Given the description of an element on the screen output the (x, y) to click on. 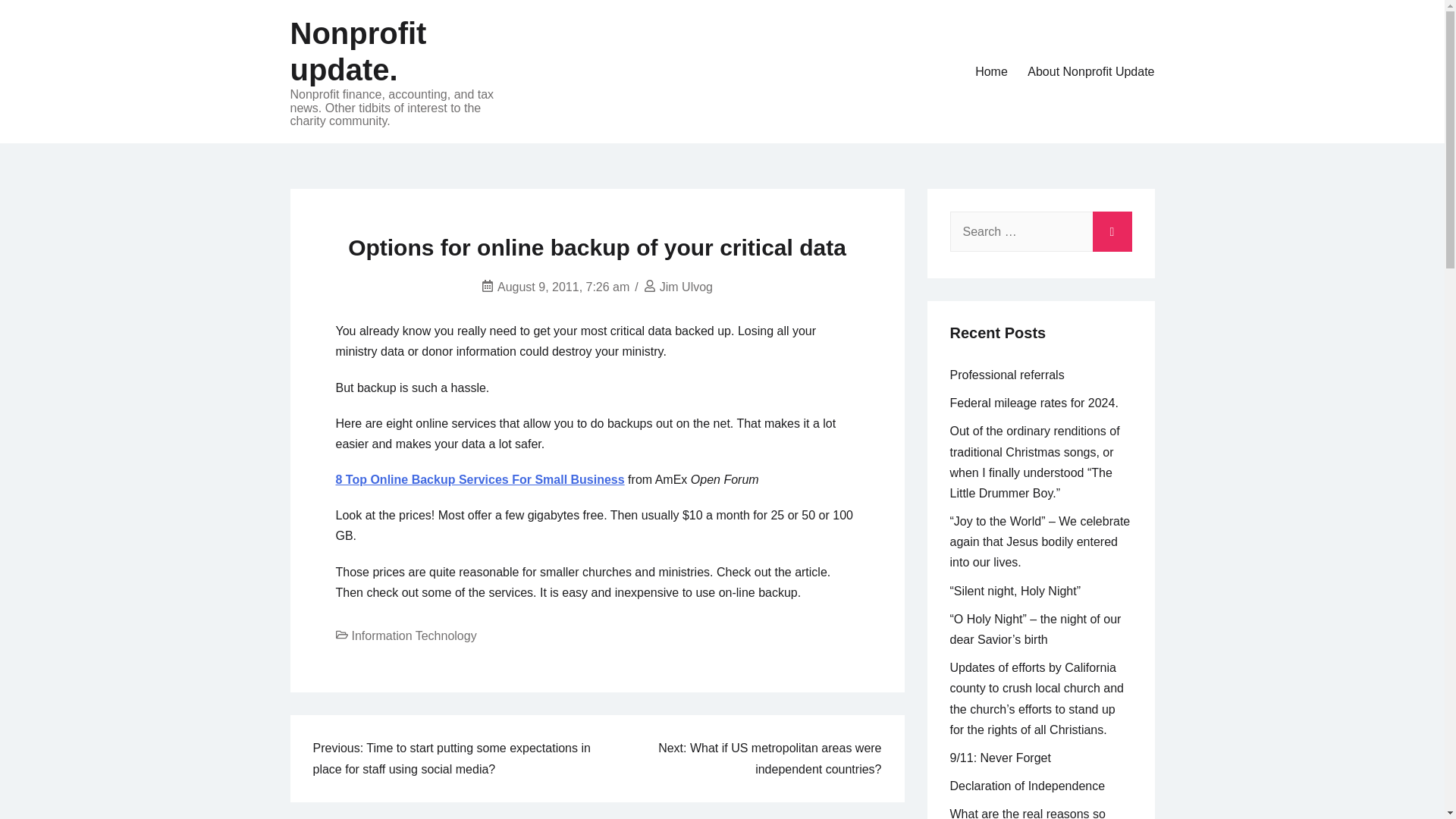
About Nonprofit Update (1090, 71)
Declaration of Independence (1027, 785)
Federal mileage rates for 2024. (1033, 402)
Information Technology (414, 635)
Search (1111, 227)
Search (1111, 227)
Home (991, 71)
8 Top Online Backup Services For Small Business (479, 479)
